Given the description of an element on the screen output the (x, y) to click on. 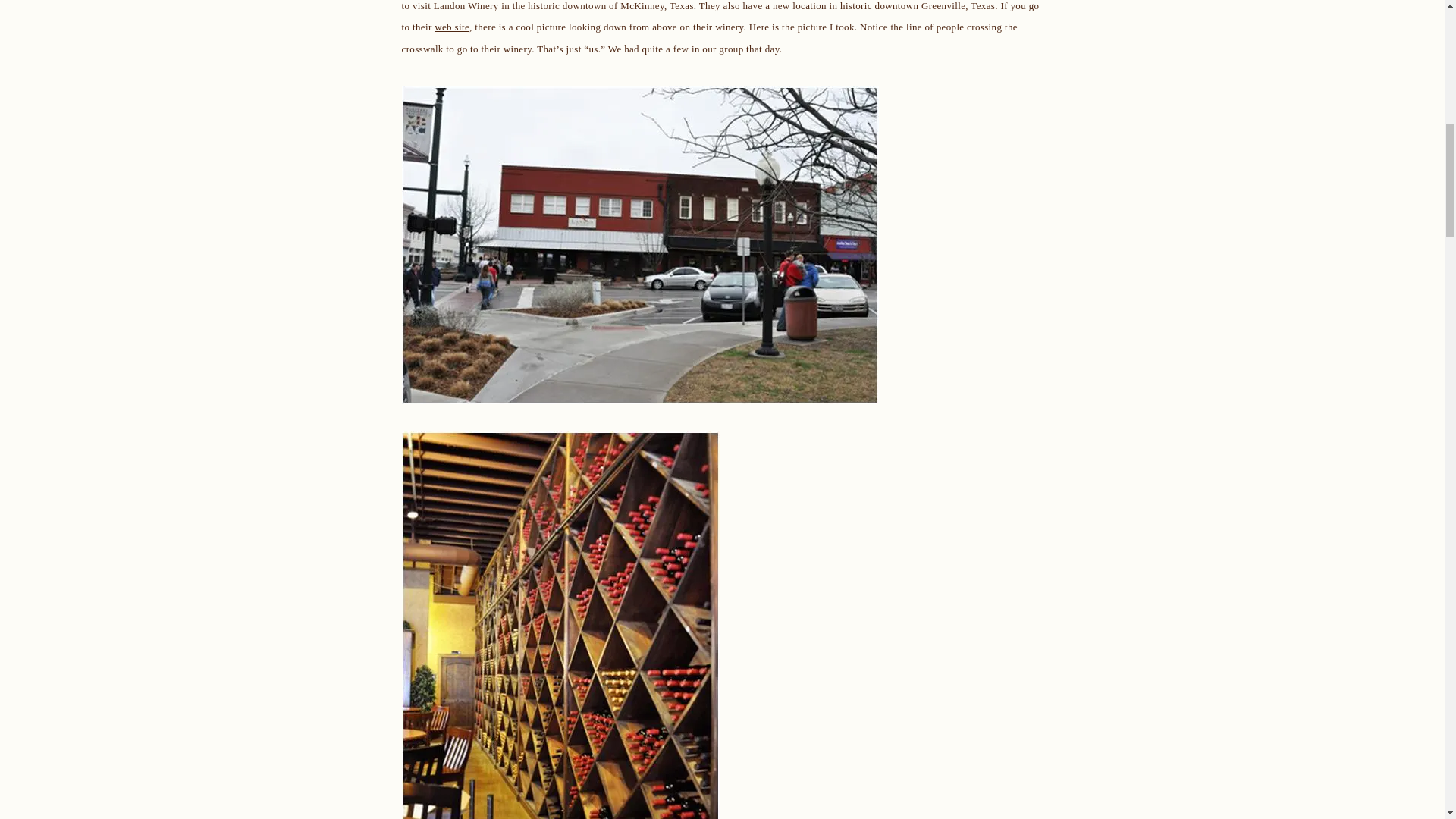
web site (450, 26)
